Given the description of an element on the screen output the (x, y) to click on. 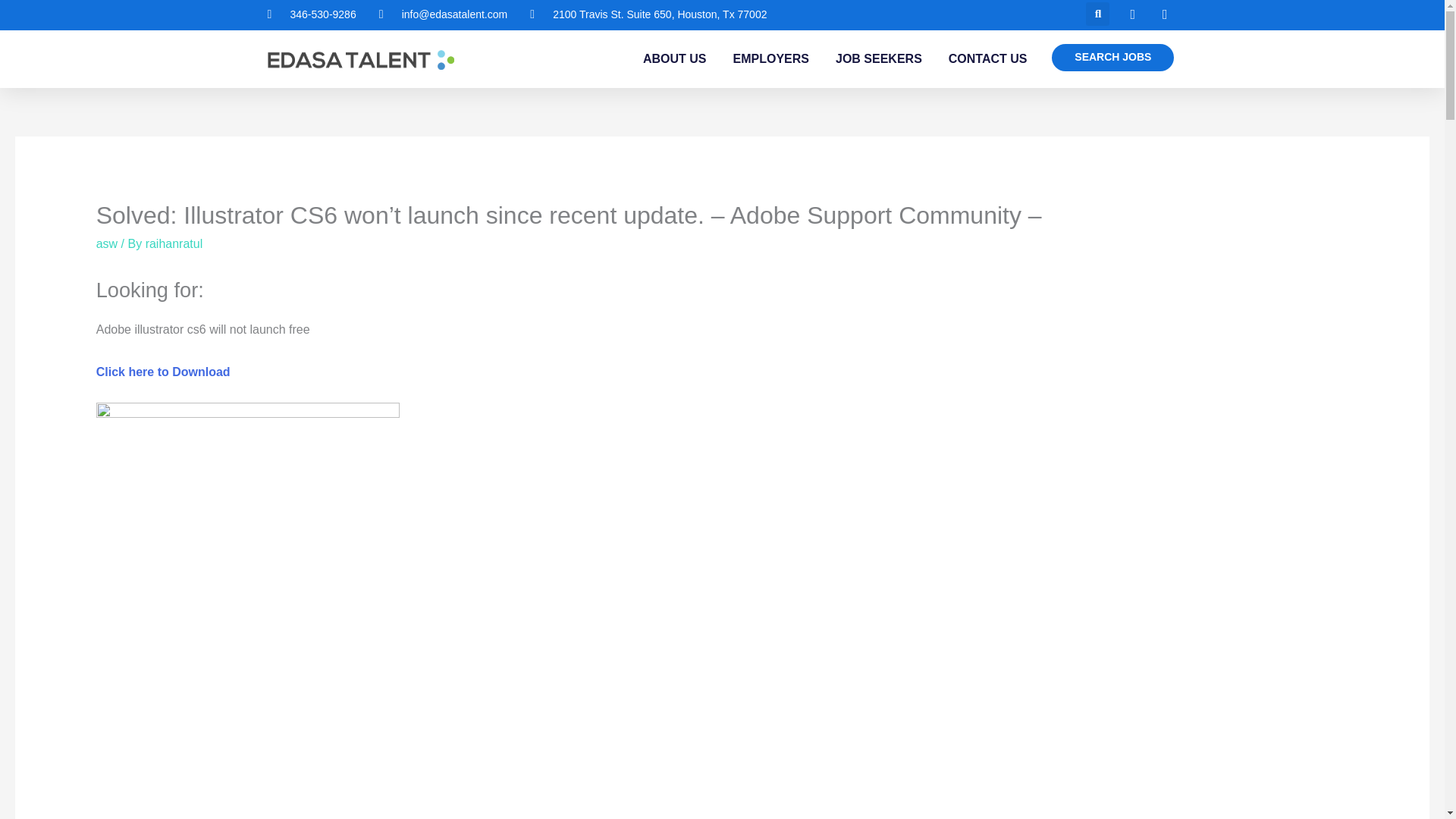
asw (106, 243)
JOB SEEKERS (878, 58)
raihanratul (174, 243)
SEARCH JOBS (1112, 57)
Click here to Download (163, 371)
CONTACT US (988, 58)
View all posts by raihanratul (174, 243)
346-530-9286 (310, 14)
EMPLOYERS (771, 58)
ABOUT US (674, 58)
